Given the description of an element on the screen output the (x, y) to click on. 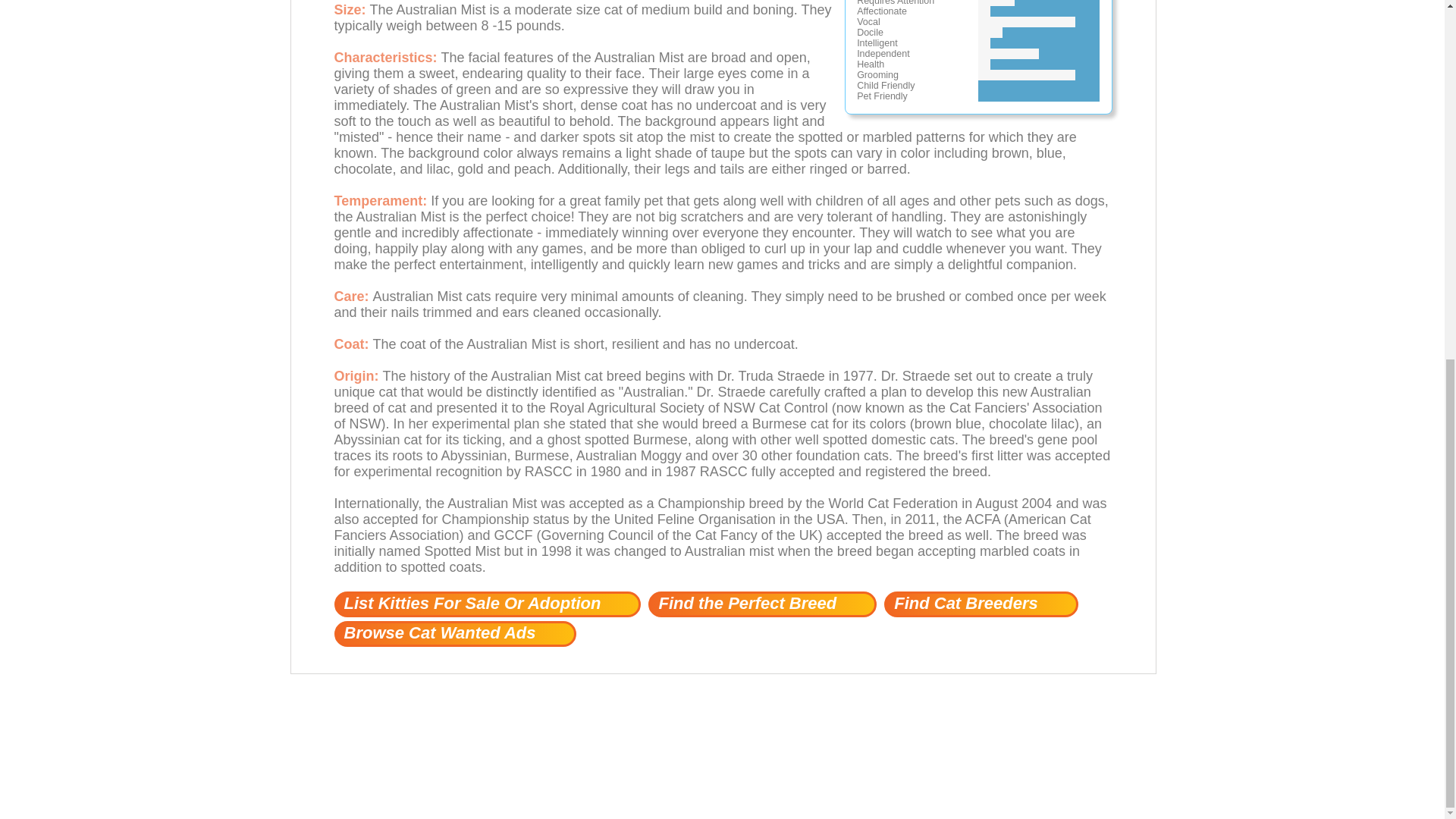
List Kitties For Sale Or Adoption (486, 604)
Find Cat Breeders (980, 604)
Browse Cat Wanted Ads (454, 633)
Find the Perfect Breed (761, 604)
